Given the description of an element on the screen output the (x, y) to click on. 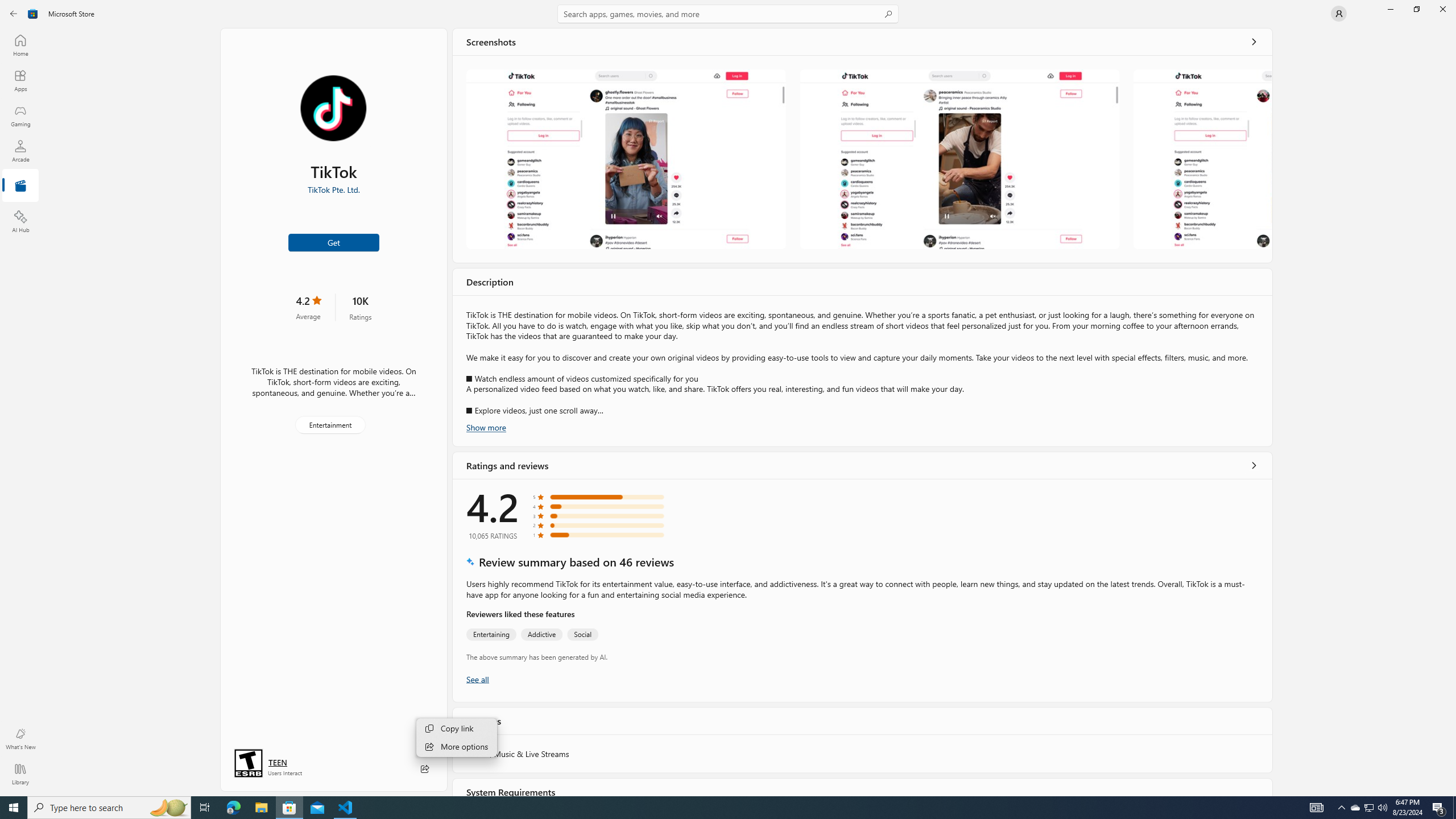
Entertainment (20, 185)
Library (20, 773)
Age rating: TEEN. Click for more information. (276, 762)
Gaming (20, 115)
AI Hub (20, 221)
TikTok Pte. Ltd. (333, 189)
Get (334, 241)
Minimize Microsoft Store (1390, 9)
Screenshot 1 (625, 158)
Close Microsoft Store (1442, 9)
Screenshot 2 (959, 158)
What's New (20, 738)
Restore Microsoft Store (1416, 9)
Share (424, 769)
Back (13, 13)
